Given the description of an element on the screen output the (x, y) to click on. 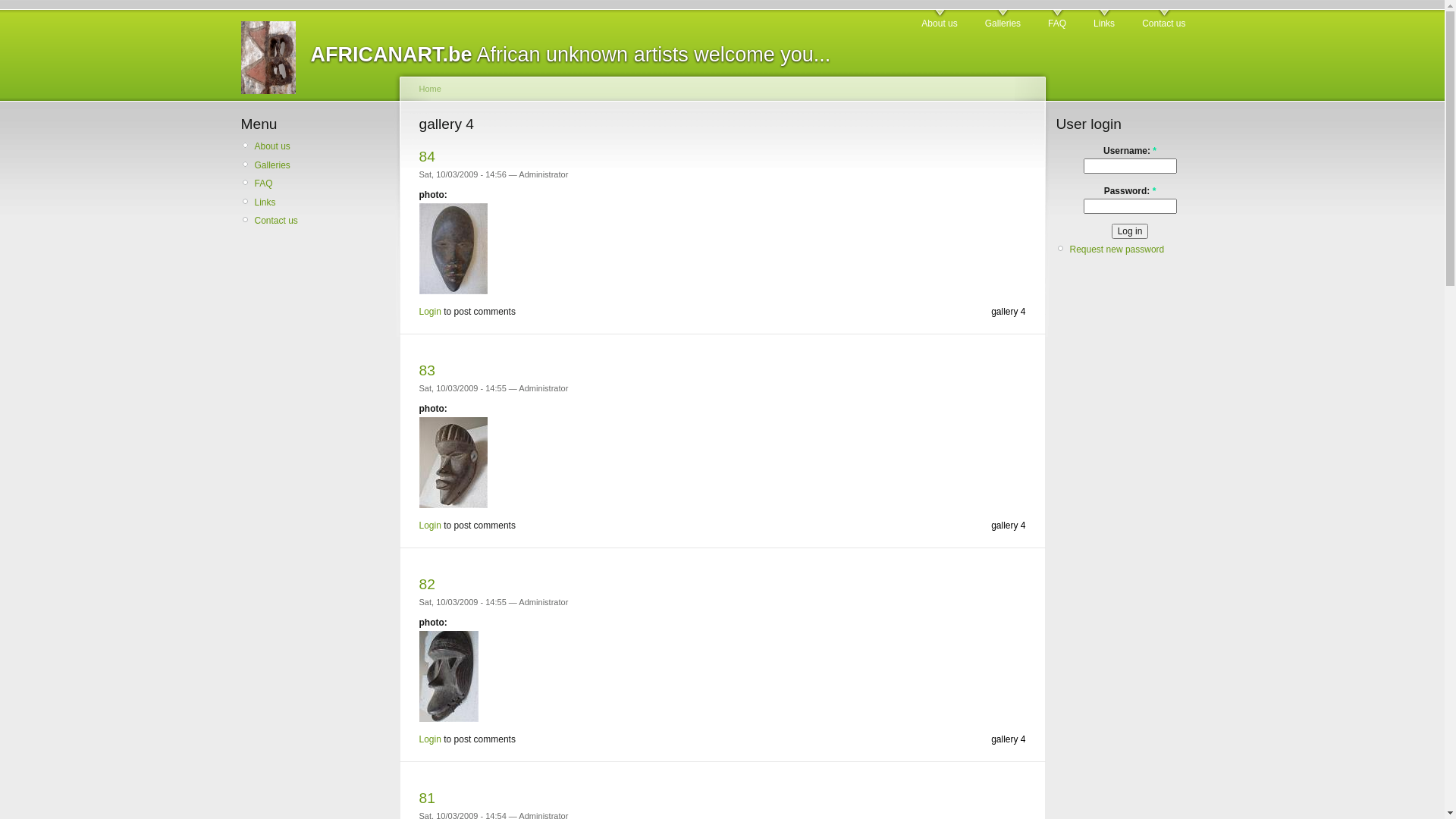
84 Element type: text (426, 156)
Links Element type: text (321, 202)
FAQ Element type: text (321, 183)
Login Element type: text (429, 311)
Login Element type: text (429, 739)
81 Element type: text (426, 798)
Home Element type: text (429, 88)
Request new password Element type: text (1116, 249)
Contact us Element type: text (1163, 20)
Login Element type: text (429, 525)
gallery 4 Element type: text (1008, 739)
About us Element type: text (939, 20)
83 Element type: text (426, 370)
gallery 4 Element type: text (1008, 525)
82 Element type: text (426, 584)
Galleries Element type: text (1002, 20)
gallery 4 Element type: text (1008, 311)
Contact us Element type: text (321, 220)
Galleries Element type: text (321, 164)
FAQ Element type: text (1057, 20)
About us Element type: text (321, 145)
Log in Element type: text (1129, 230)
Links Element type: text (1103, 20)
AFRICANART.be African unknown artists welcome you... Element type: text (570, 54)
